Given the description of an element on the screen output the (x, y) to click on. 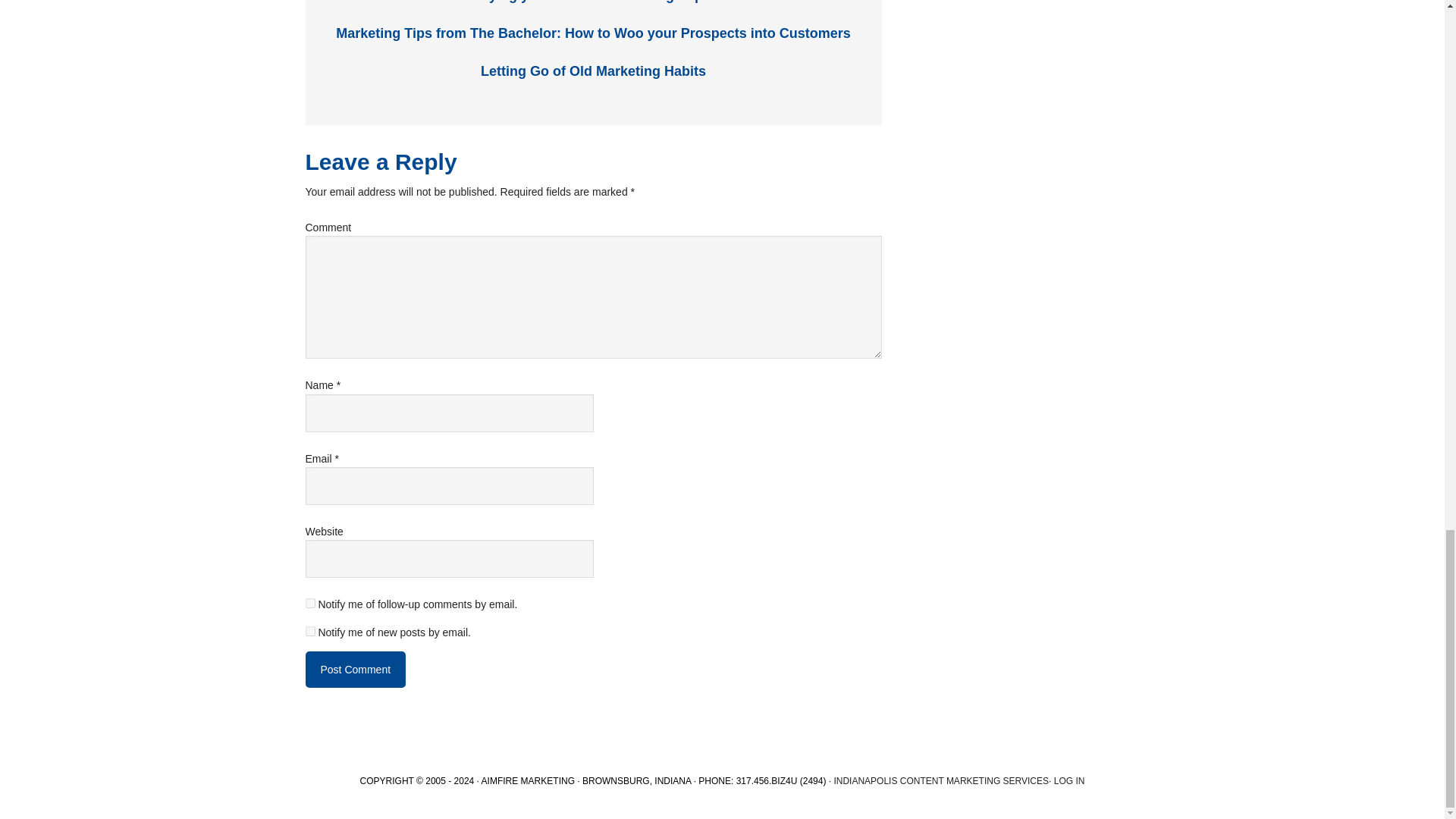
subscribe (309, 603)
Post Comment (355, 669)
subscribe (309, 631)
